Given the description of an element on the screen output the (x, y) to click on. 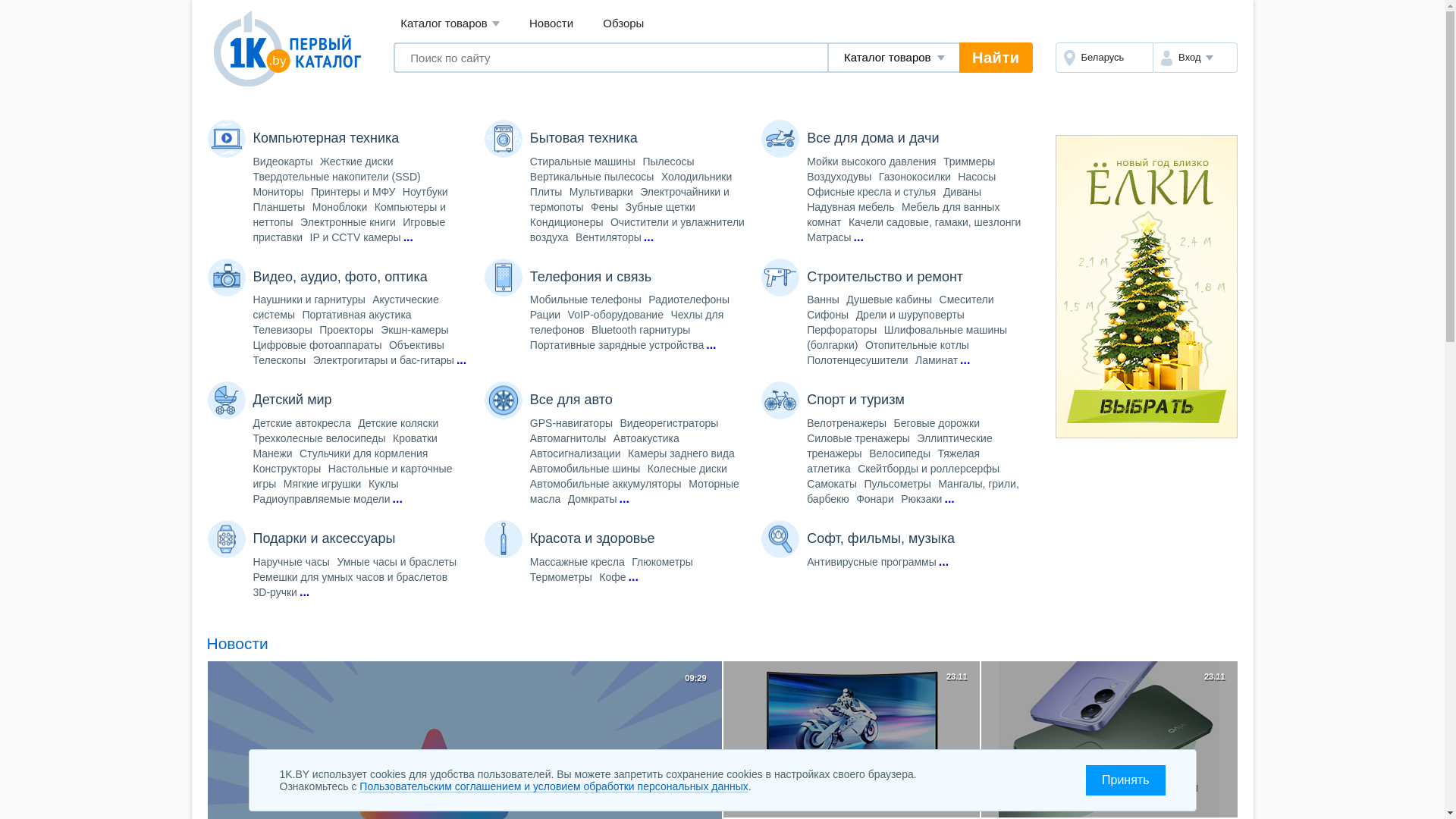
... Element type: text (461, 359)
... Element type: text (710, 344)
... Element type: text (943, 561)
... Element type: text (964, 359)
... Element type: text (948, 498)
... Element type: text (624, 498)
... Element type: text (408, 236)
... Element type: text (397, 498)
... Element type: text (858, 236)
... Element type: text (304, 591)
... Element type: text (632, 576)
... Element type: text (648, 236)
